Given the description of an element on the screen output the (x, y) to click on. 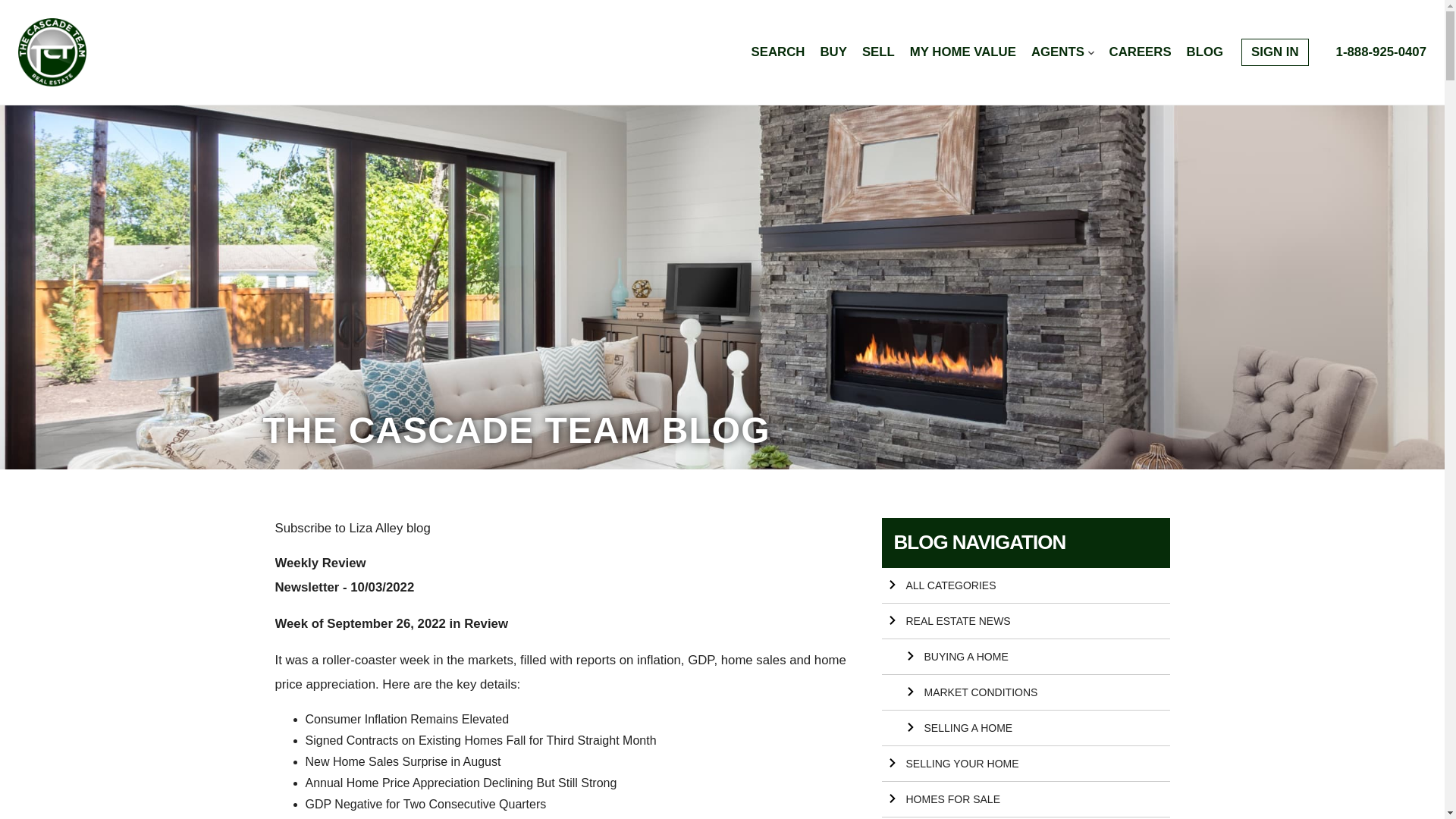
SELLING YOUR HOME (1024, 764)
DROPDOWN ARROW (1090, 52)
BUY (832, 51)
BUYING A HOME (1024, 656)
REAL ESTATE NEWS (1024, 621)
Subscribe to Liza Alley blog (352, 527)
1-888-925-0407 (1381, 52)
MARKET CONDITIONS (1024, 692)
SELL (878, 51)
SIGN IN (1274, 52)
